Given the description of an element on the screen output the (x, y) to click on. 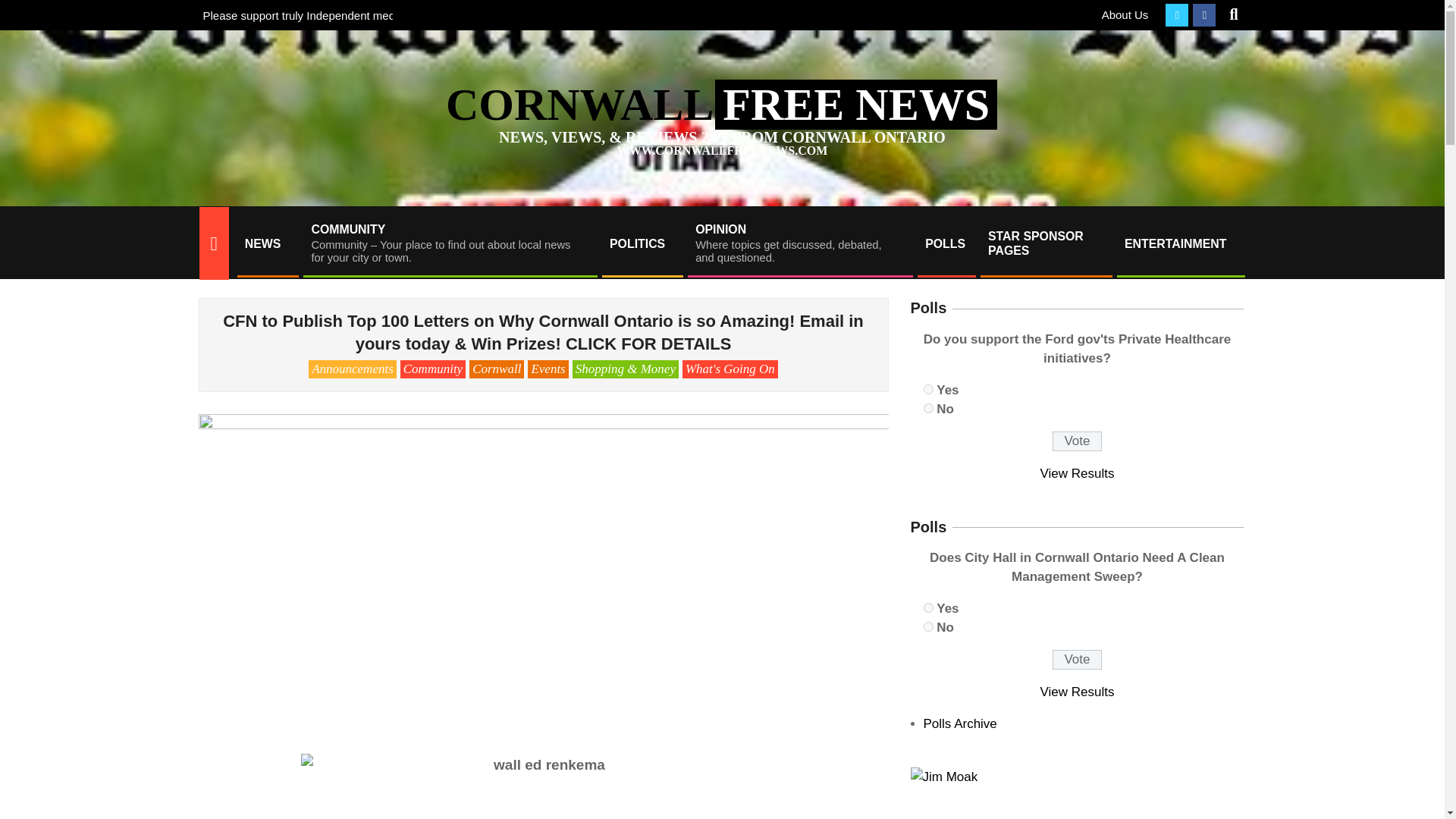
NEWS (265, 243)
About Us (1125, 14)
STAR SPONSOR PAGES (1044, 243)
1777 (928, 408)
ENTERTAINMENT (1179, 243)
POLLS (945, 243)
   Vote    (1076, 659)
   Vote    (1076, 441)
1770 (928, 607)
View Results Of This Poll (1078, 691)
POLITICS (641, 243)
Search (24, 9)
1771 (928, 626)
View Results Of This Poll (1078, 473)
1776 (928, 388)
